Given the description of an element on the screen output the (x, y) to click on. 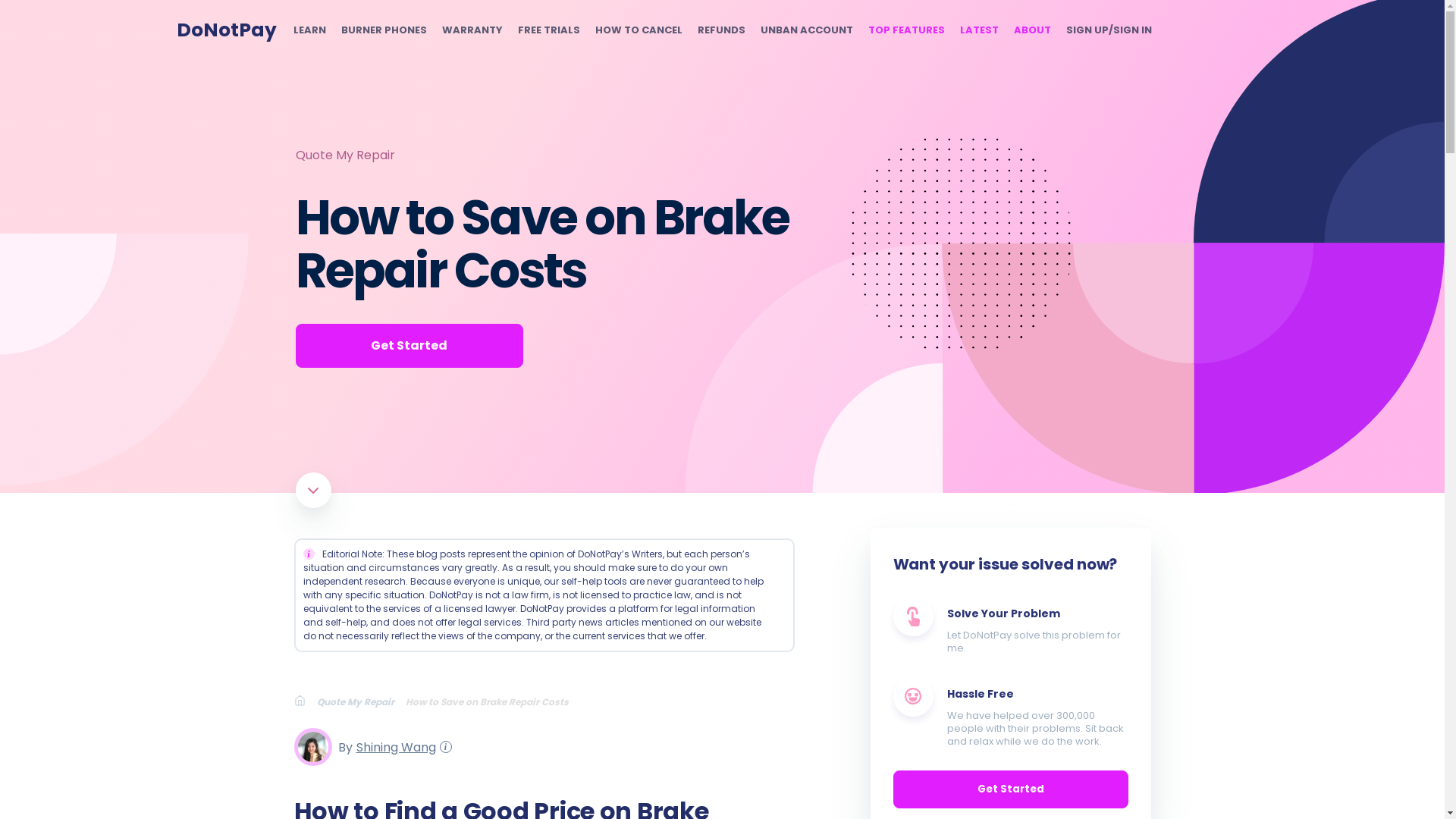
Shining Wang (393, 746)
Get Started (408, 345)
Quote My Repair (344, 154)
LEARN (308, 29)
ABOUT (1031, 29)
REFUNDS (721, 29)
WARRANTY (471, 29)
UNBAN ACCOUNT (805, 29)
Quote My Repair (361, 700)
TOP FEATURES (905, 29)
FREE TRIALS (547, 29)
HOW TO CANCEL (637, 29)
BURNER PHONES (383, 29)
LATEST (978, 29)
DoNotPay (226, 29)
